Given the description of an element on the screen output the (x, y) to click on. 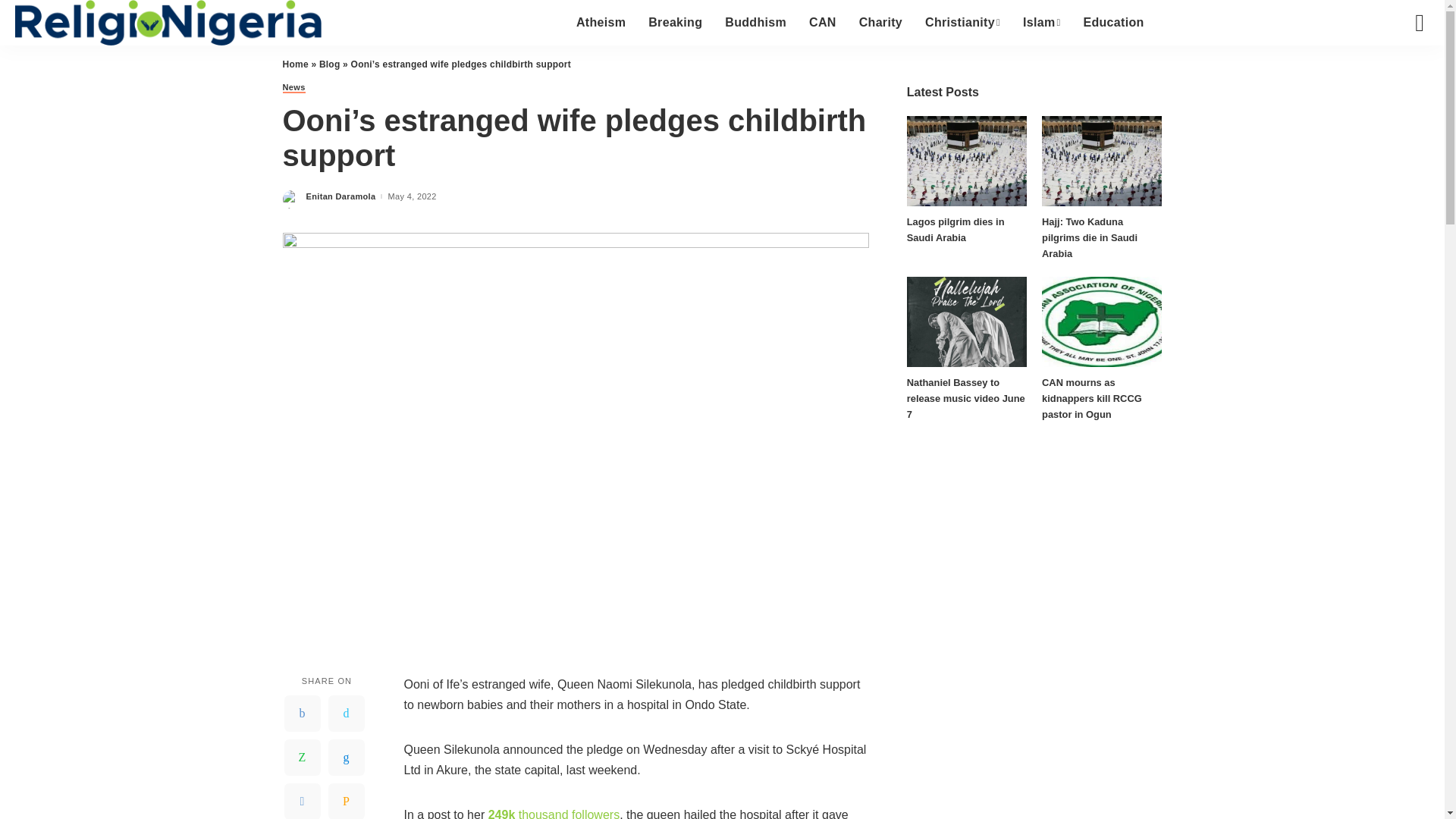
Charity (880, 22)
CAN (822, 22)
Buddhism (755, 22)
Religion Nigeria (167, 22)
Breaking (675, 22)
Atheism (600, 22)
